Given the description of an element on the screen output the (x, y) to click on. 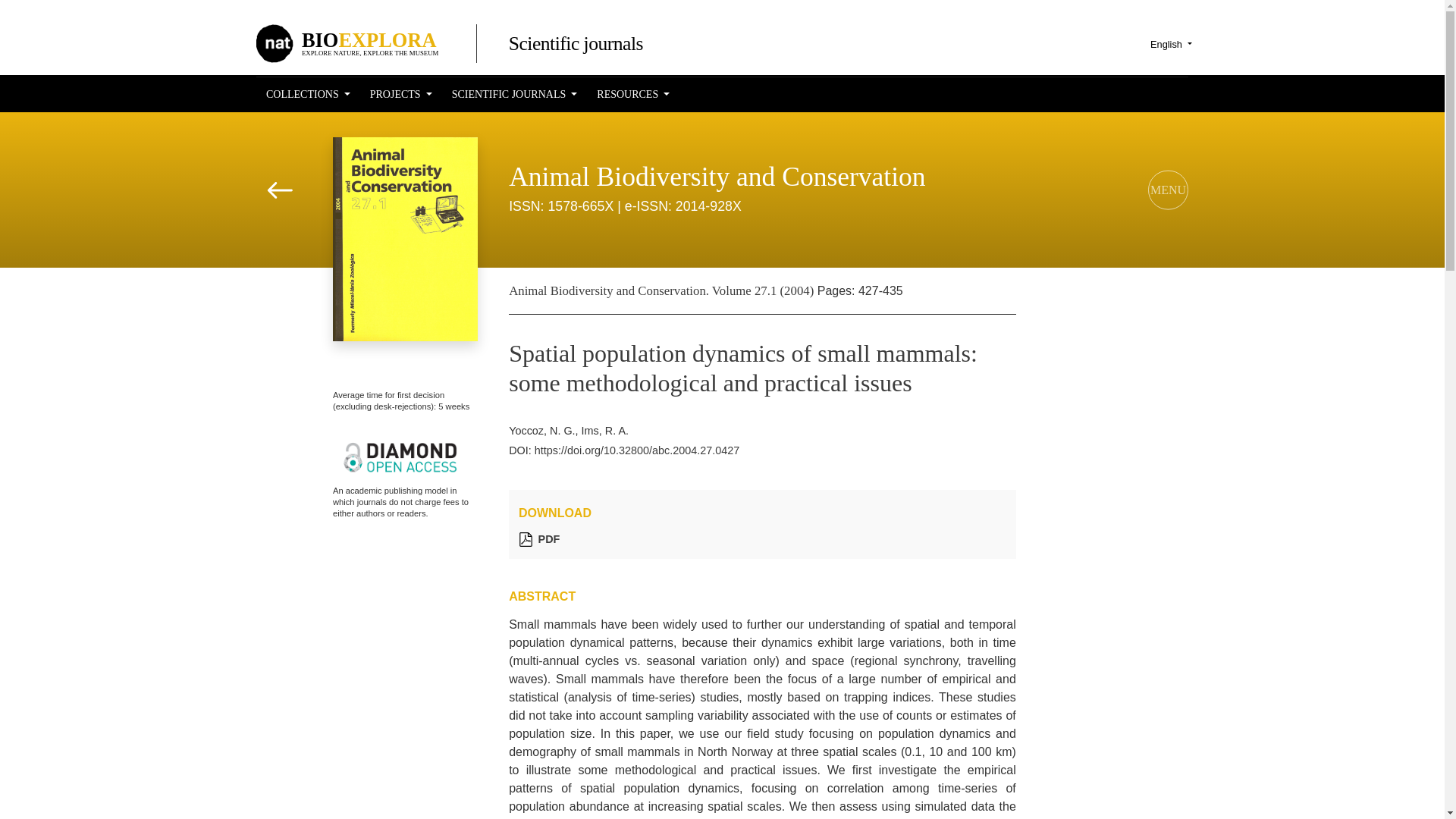
RESOURCES (632, 93)
SCIENTIFIC JOURNALS (514, 93)
Diamond Open Access (399, 458)
Scientific journals (575, 43)
MENU (1168, 121)
English (1171, 43)
COLLECTIONS (388, 43)
PROJECTS (308, 93)
